Given the description of an element on the screen output the (x, y) to click on. 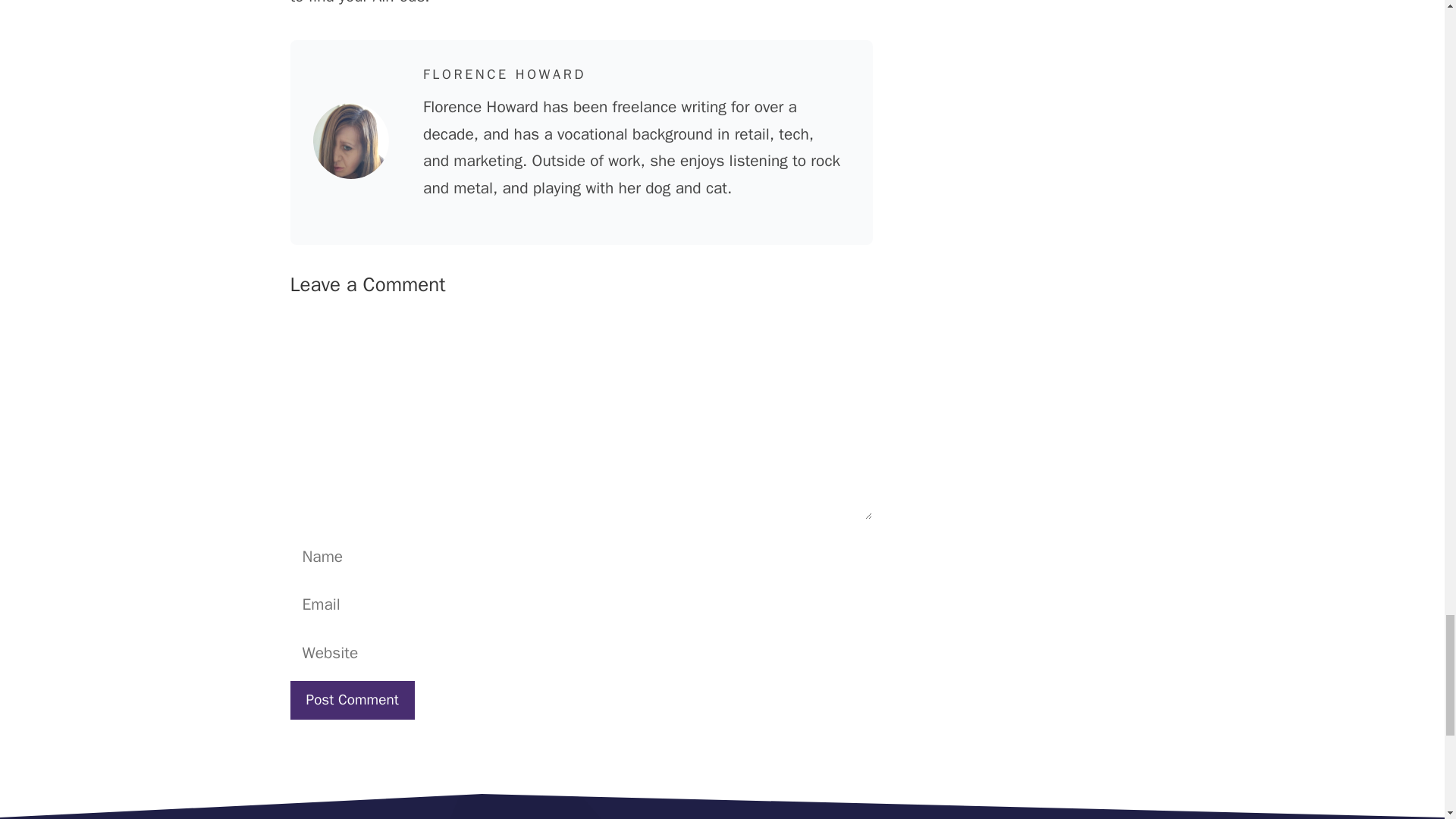
Post Comment (351, 699)
Post Comment (351, 699)
